Given the description of an element on the screen output the (x, y) to click on. 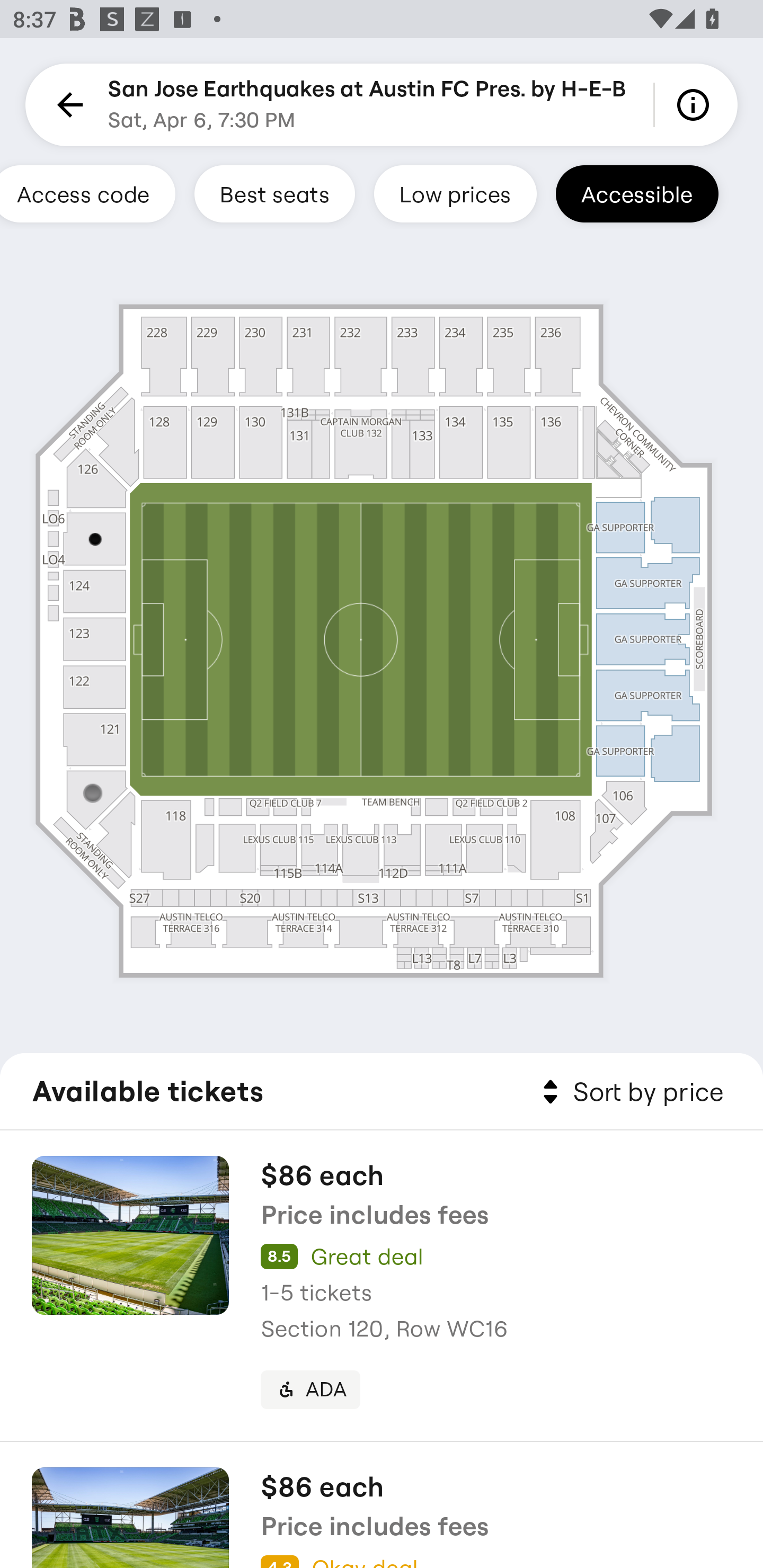
Back (66, 104)
Info (695, 104)
Access code (87, 193)
Best seats (274, 193)
Low prices (454, 193)
Accessible (636, 193)
Sort by price (629, 1091)
$86 each Price includes fees 4.3 Okay deal (381, 1505)
